Given the description of an element on the screen output the (x, y) to click on. 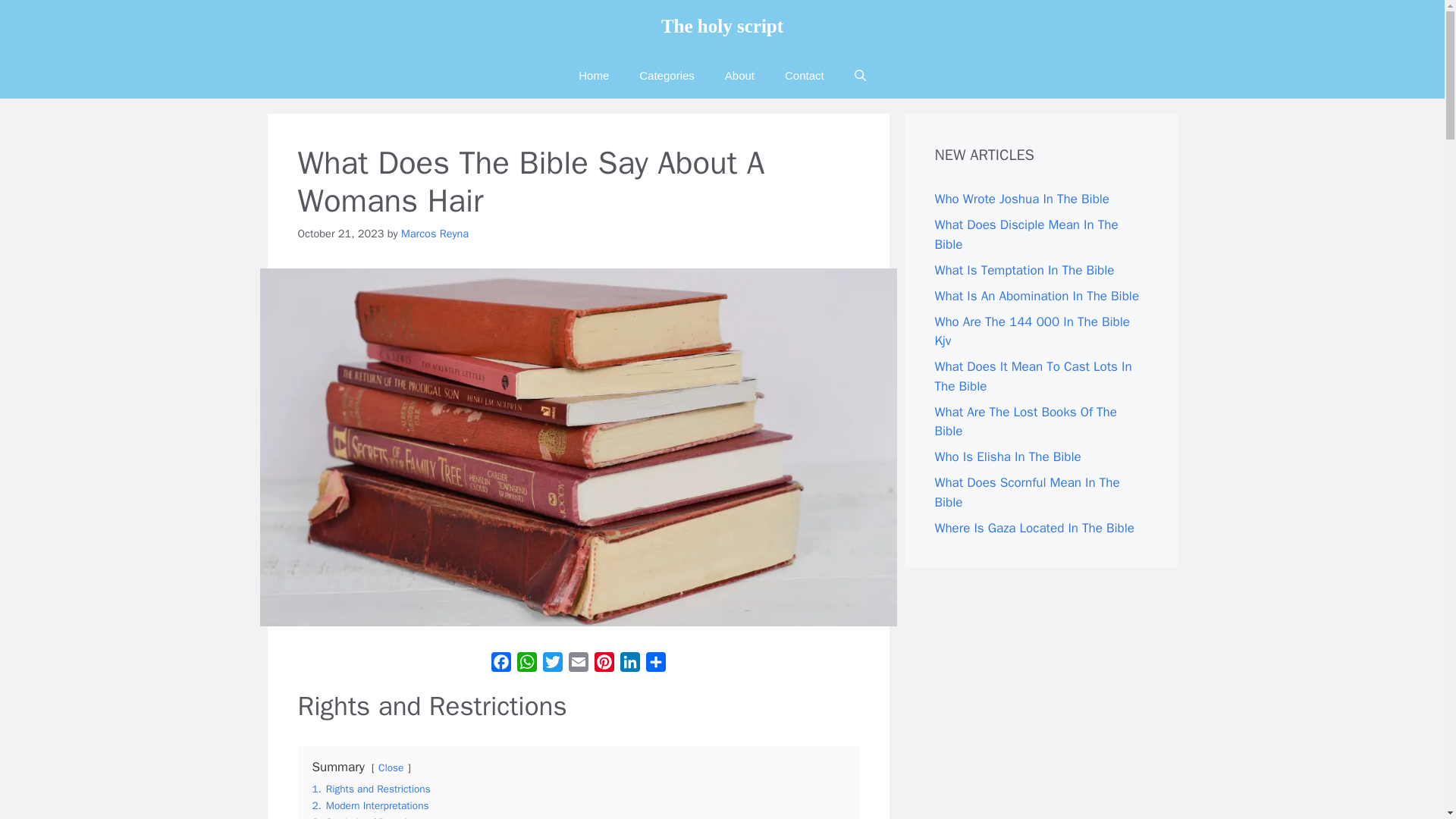
WhatsApp (526, 664)
Email (578, 664)
Home (593, 75)
Facebook (500, 664)
1. Rights and Restrictions (371, 788)
Facebook (500, 664)
WhatsApp (526, 664)
3. Symbols of Devotion (366, 817)
Contact (805, 75)
Twitter (553, 664)
